Given the description of an element on the screen output the (x, y) to click on. 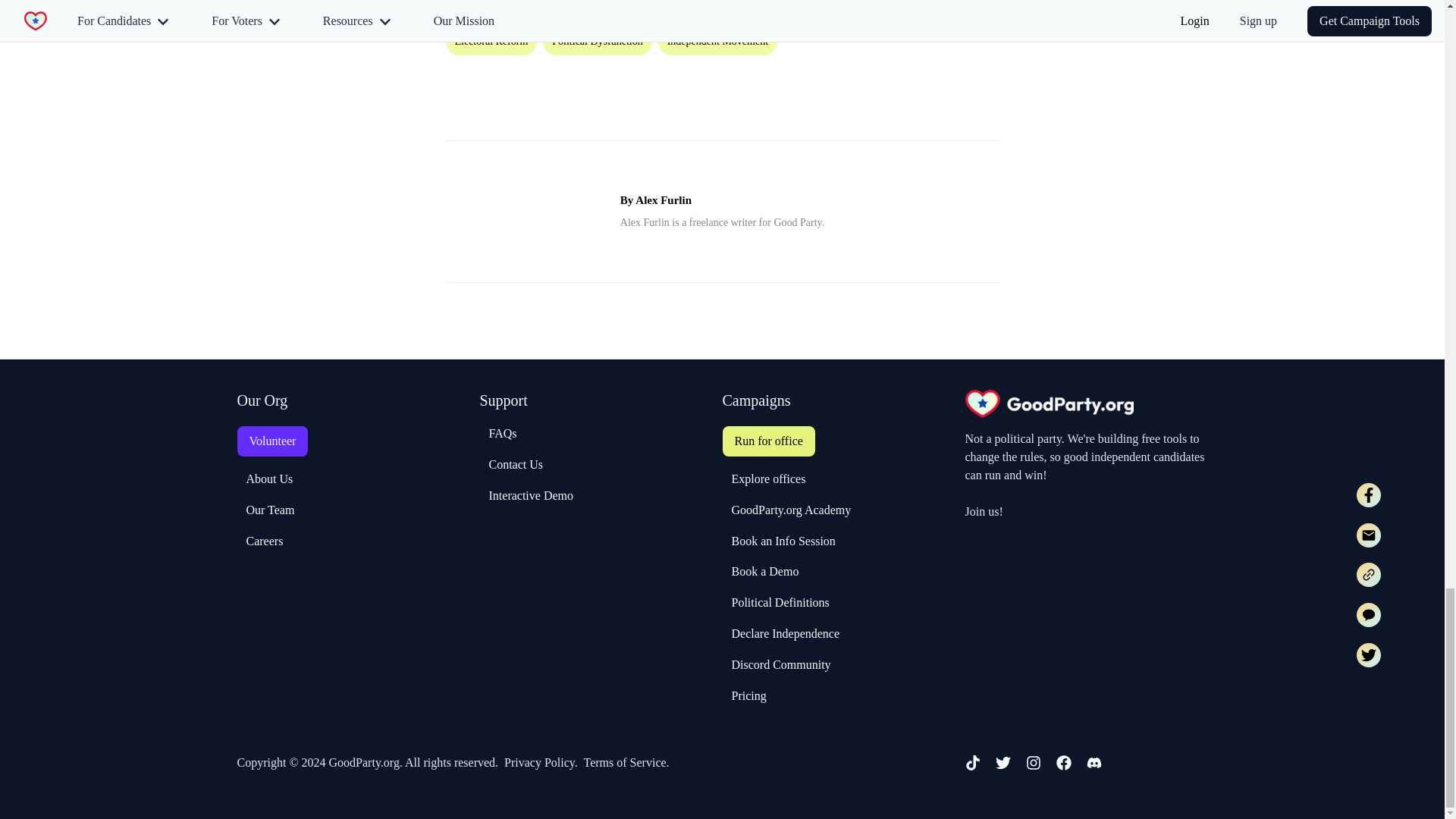
Political Dysfunction (600, 40)
Electoral Reform (494, 40)
Facebook (1062, 762)
Discord Community (775, 664)
Twitter (1002, 762)
Instagram (1033, 762)
Discord (1093, 762)
Independent Movement (720, 40)
TikTok (971, 762)
